Given the description of an element on the screen output the (x, y) to click on. 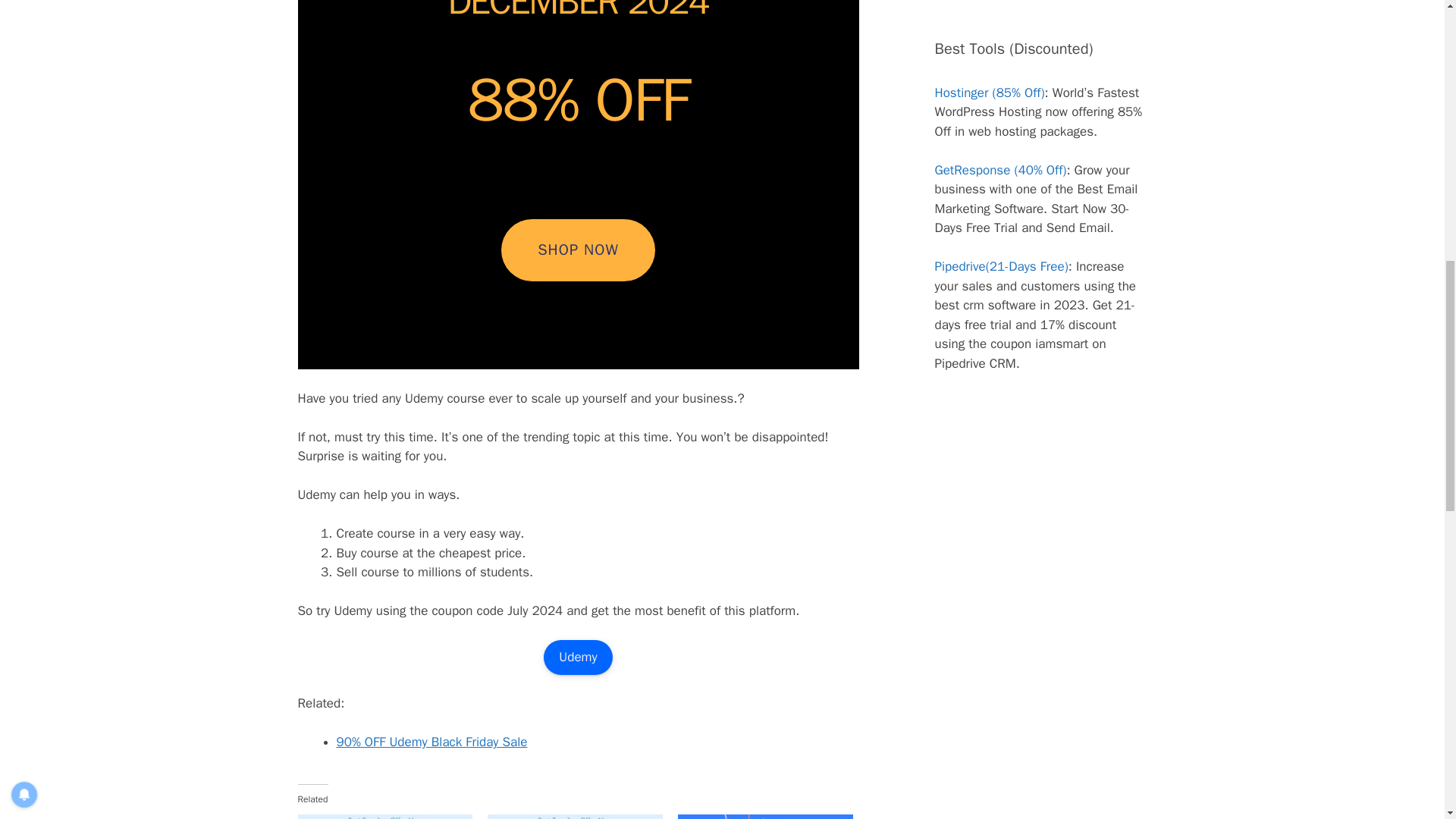
Scroll back to top (1406, 720)
Udemy (577, 656)
SHOP NOW (577, 250)
